Given the description of an element on the screen output the (x, y) to click on. 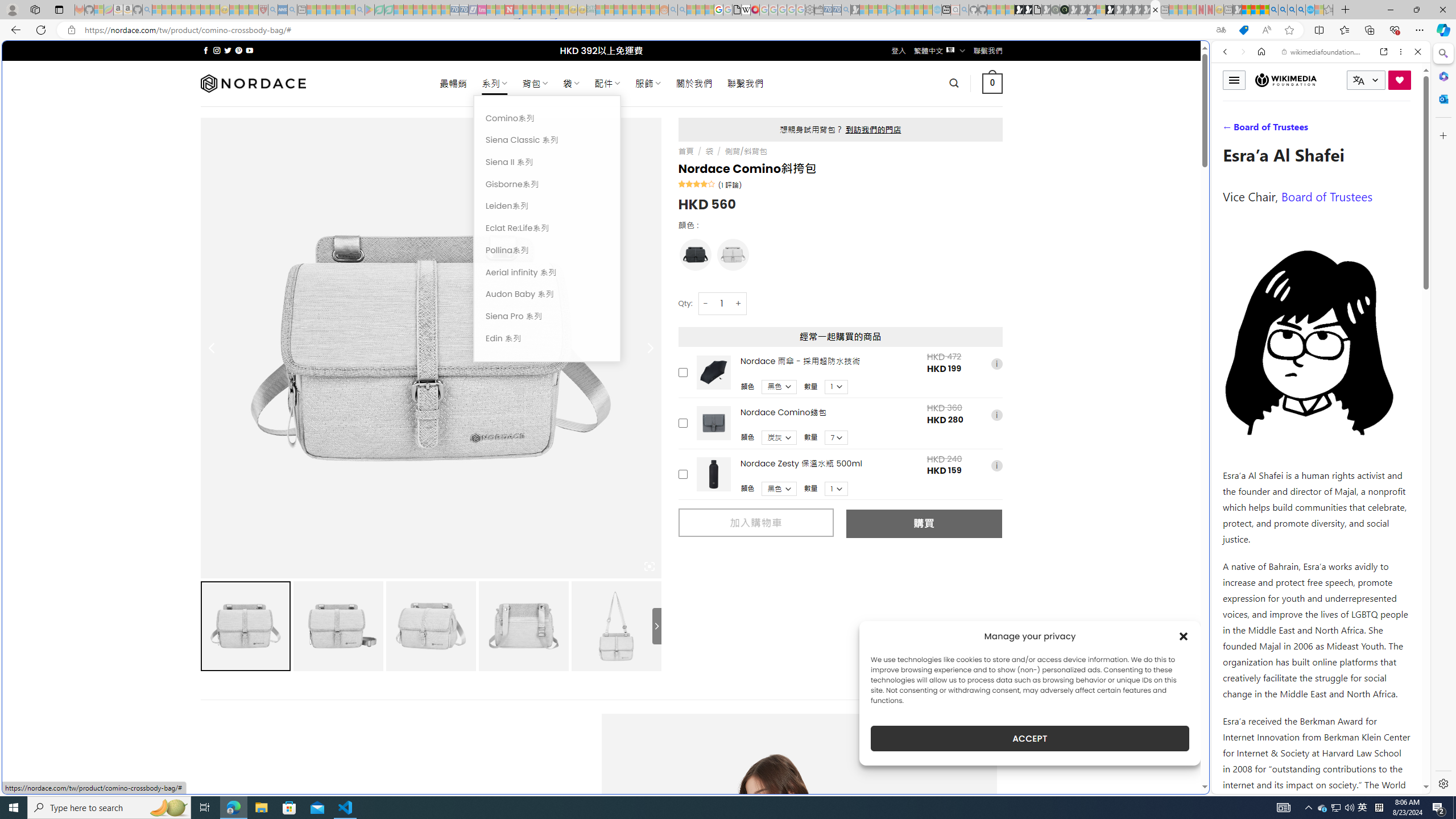
Microsoft Start Gaming - Sleeping (854, 9)
Global web icon (1232, 786)
Trusted Community Engagement and Contributions | Guidelines (518, 9)
MSN - Sleeping (1236, 9)
